Given the description of an element on the screen output the (x, y) to click on. 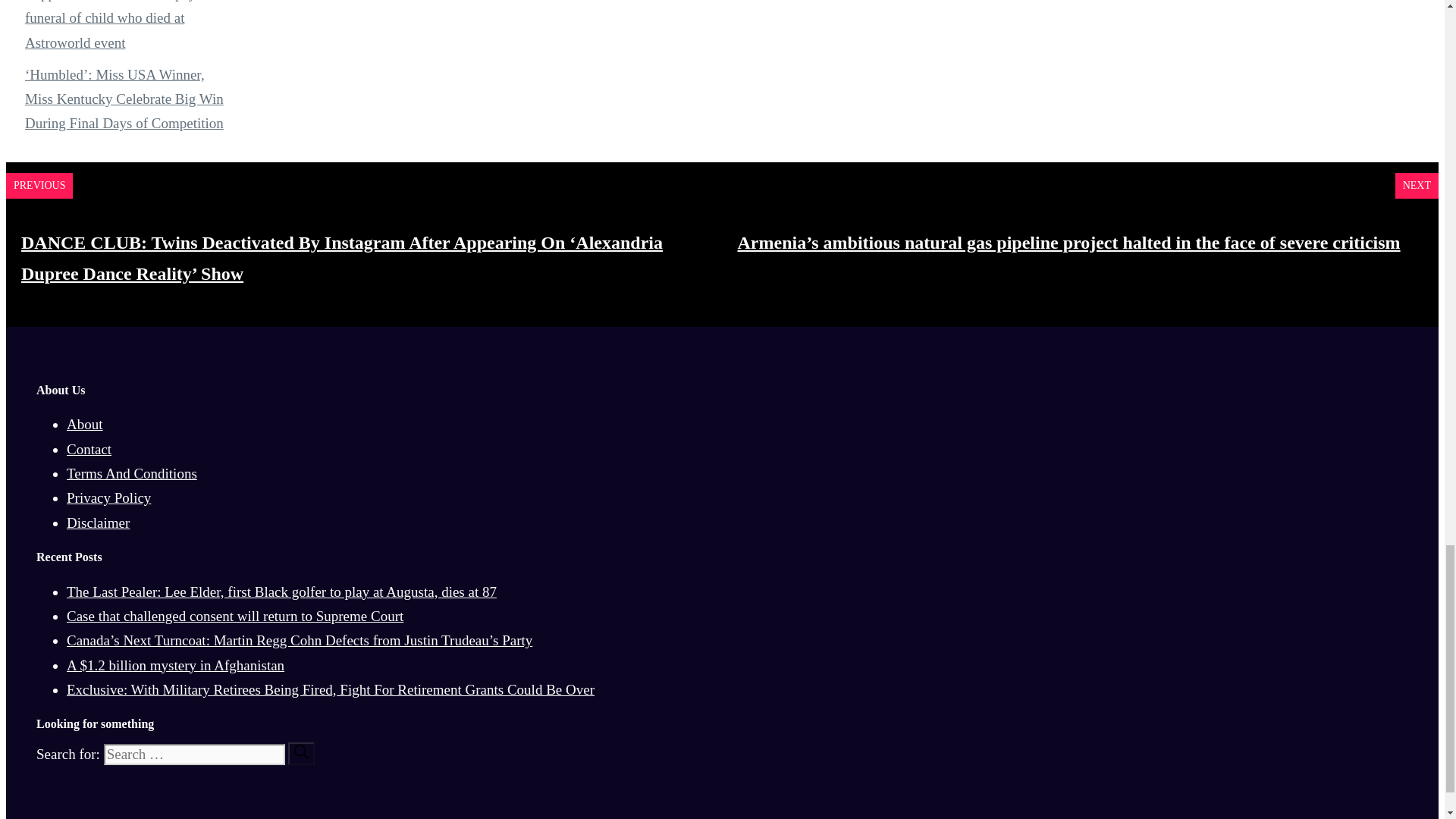
Terms And Conditions (131, 473)
Contact (89, 449)
About (84, 424)
Search for: (194, 753)
